Given the description of an element on the screen output the (x, y) to click on. 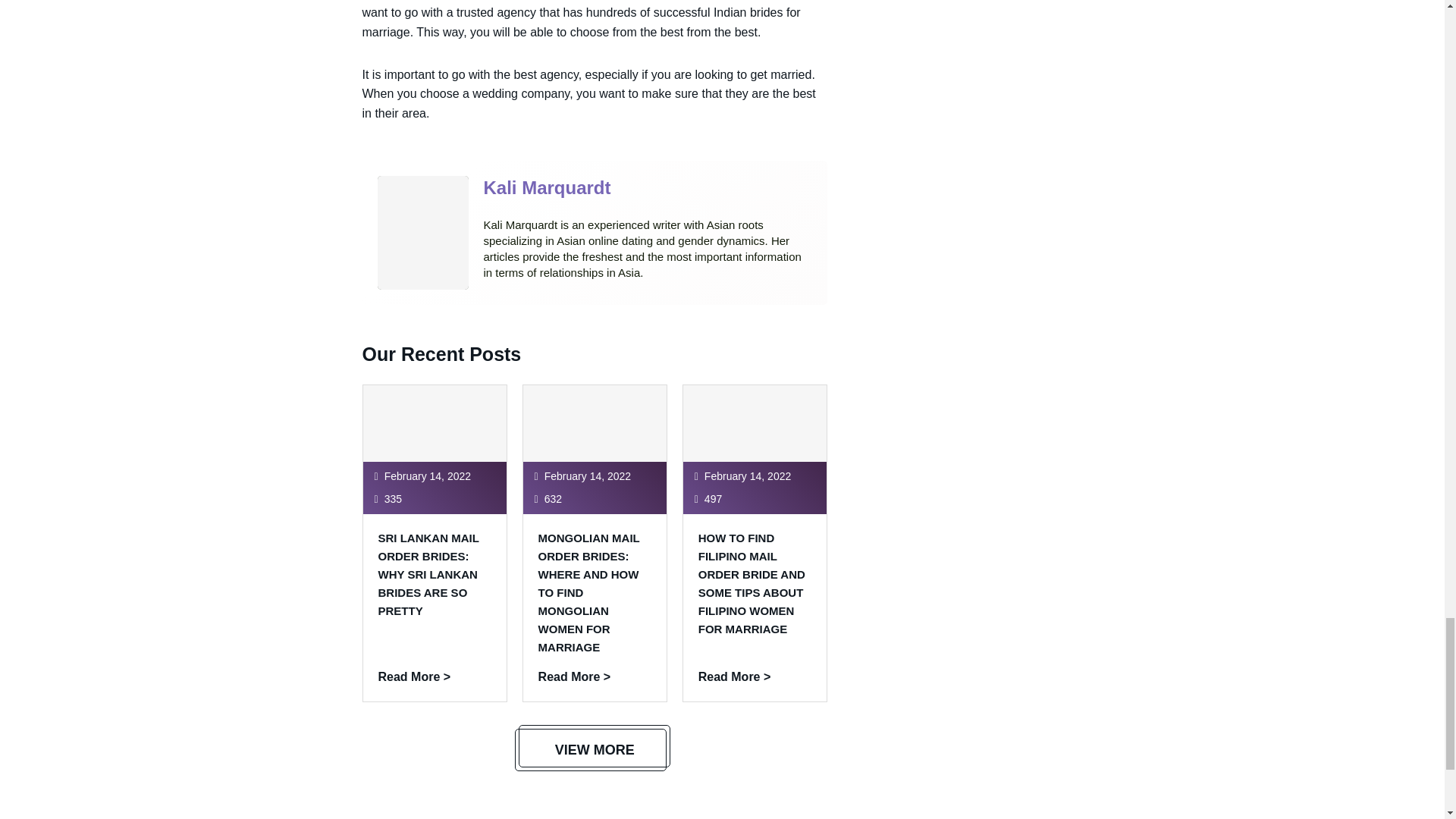
Kali Marquardt (547, 187)
